Given the description of an element on the screen output the (x, y) to click on. 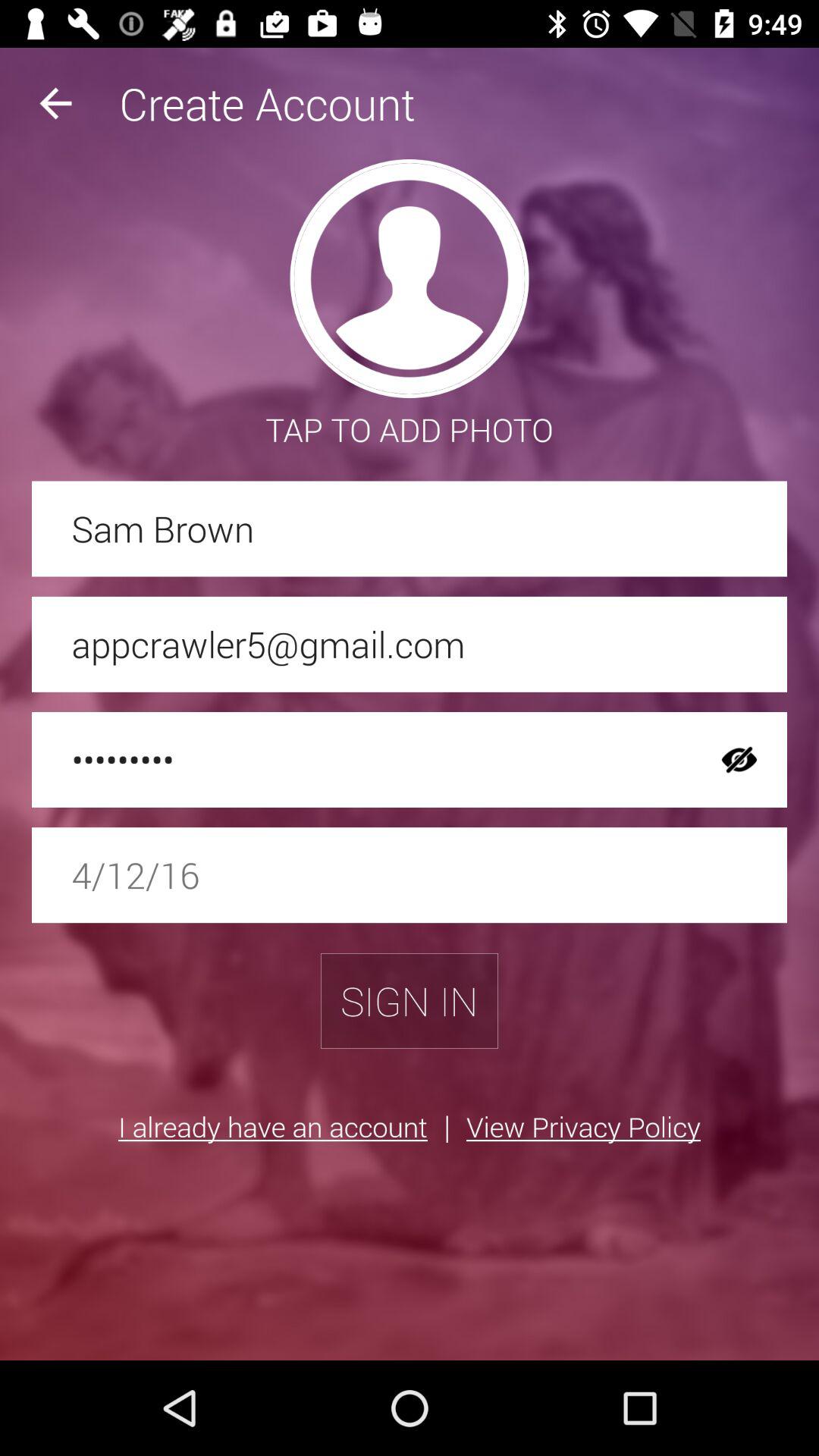
select the icon above the 4/12/16 (361, 759)
